Given the description of an element on the screen output the (x, y) to click on. 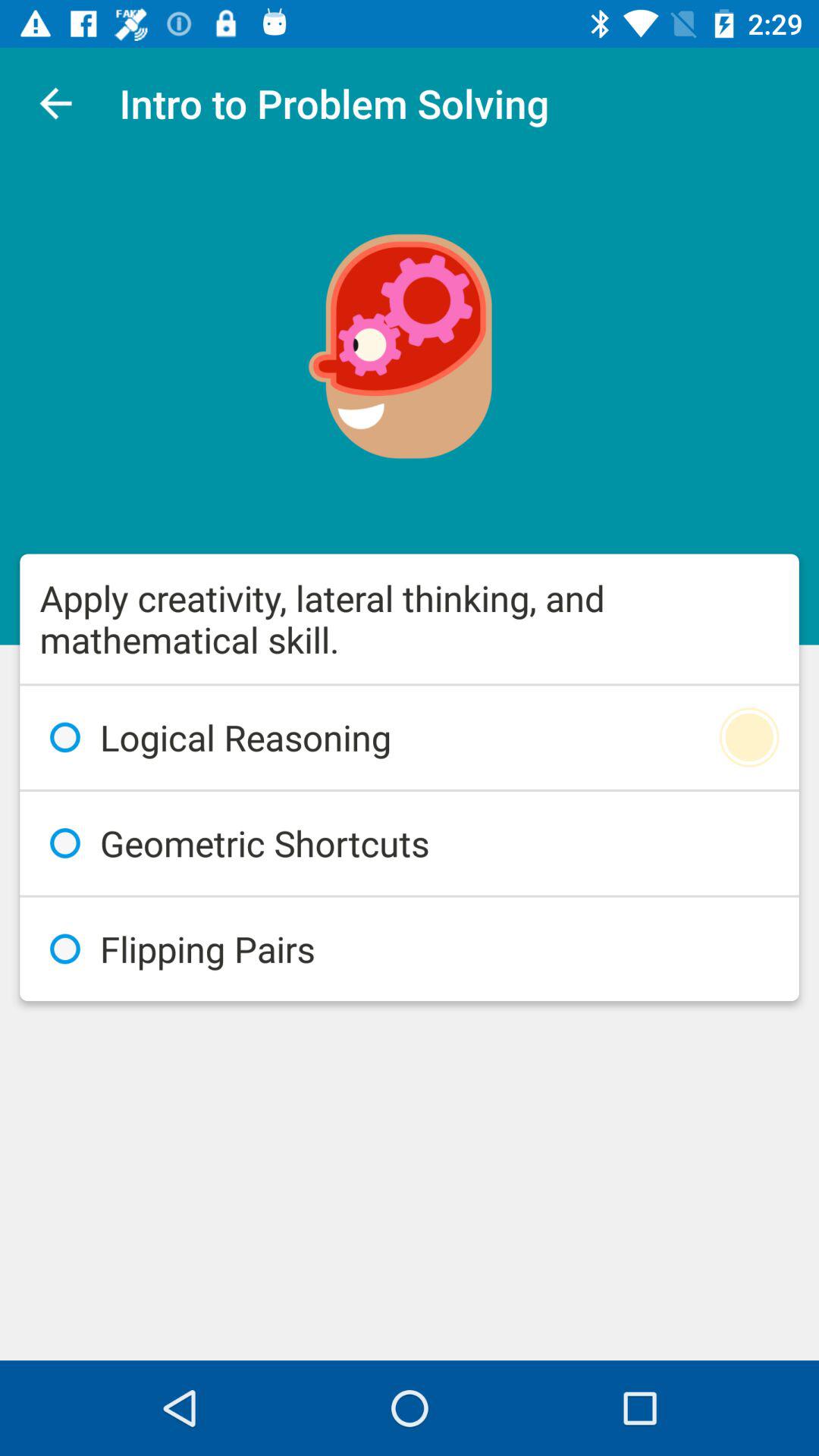
scroll to geometric shortcuts (409, 843)
